Given the description of an element on the screen output the (x, y) to click on. 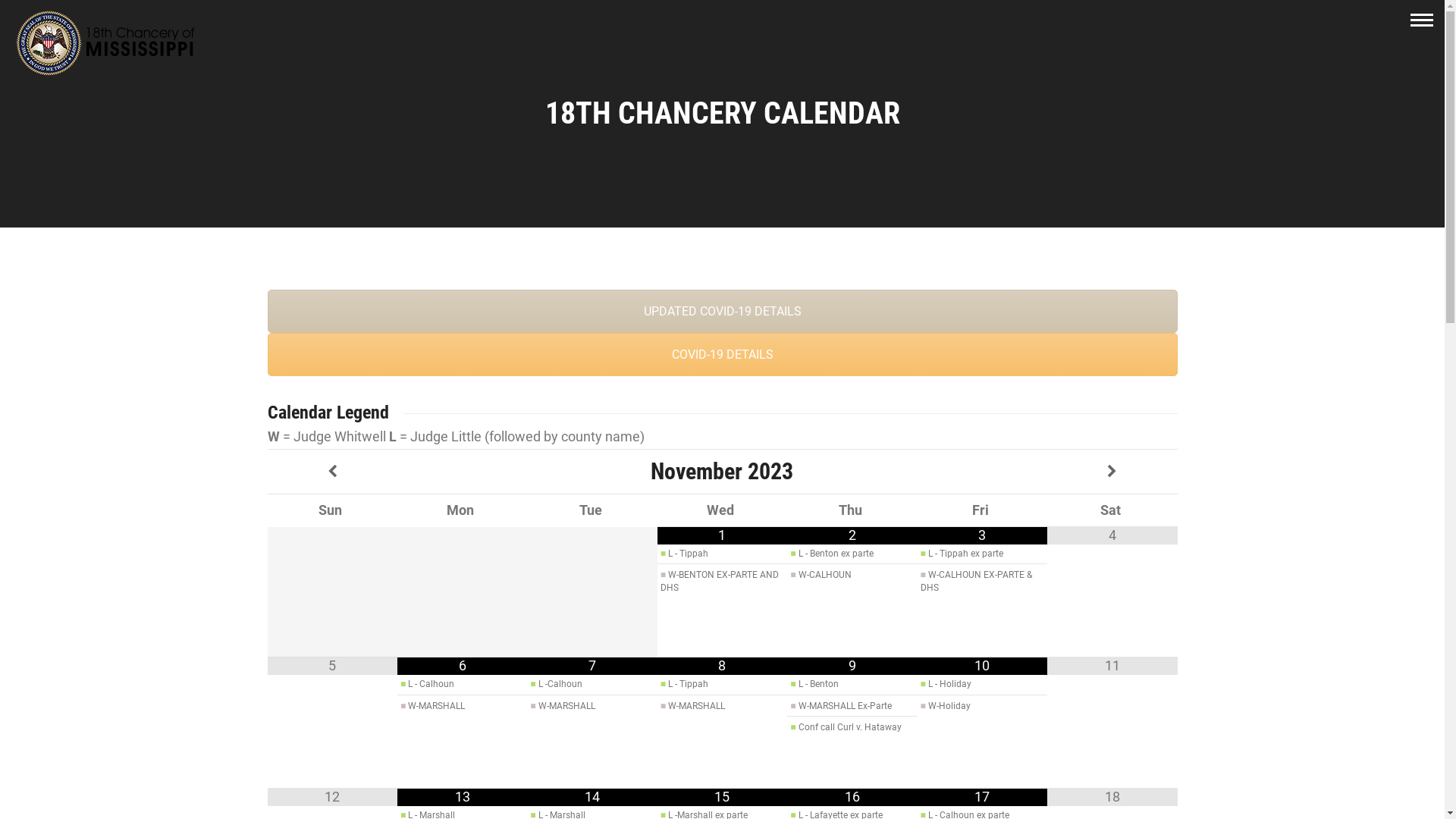
COVID-19 DETAILS Element type: text (721, 354)
UPDATED COVID-19 DETAILS Element type: text (721, 310)
Previous Month Element type: hover (331, 472)
Next Month Element type: hover (1111, 472)
